Given the description of an element on the screen output the (x, y) to click on. 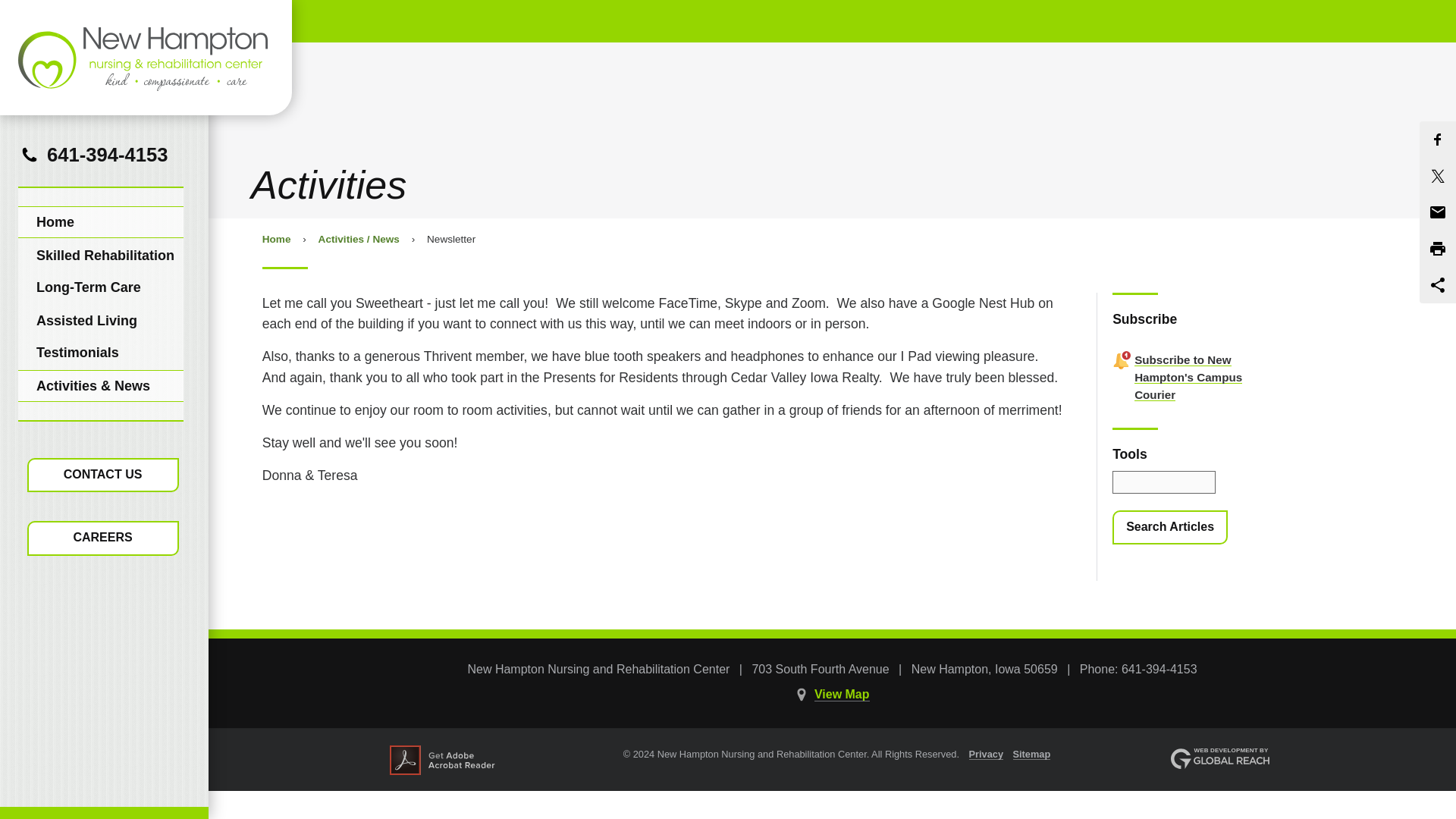
Skilled Rehabilitation (100, 255)
Privacy (986, 754)
CONTACT US (103, 475)
View Map (841, 694)
Assisted Living (100, 320)
CAREERS (103, 538)
Search Articles (1169, 527)
Home (276, 238)
Long-Term Care (100, 287)
Subscribe to New Hampton's Campus Courier (1187, 376)
Home (100, 222)
Search Articles (1169, 527)
Testimonials (100, 352)
Sitemap (1032, 754)
